Given the description of an element on the screen output the (x, y) to click on. 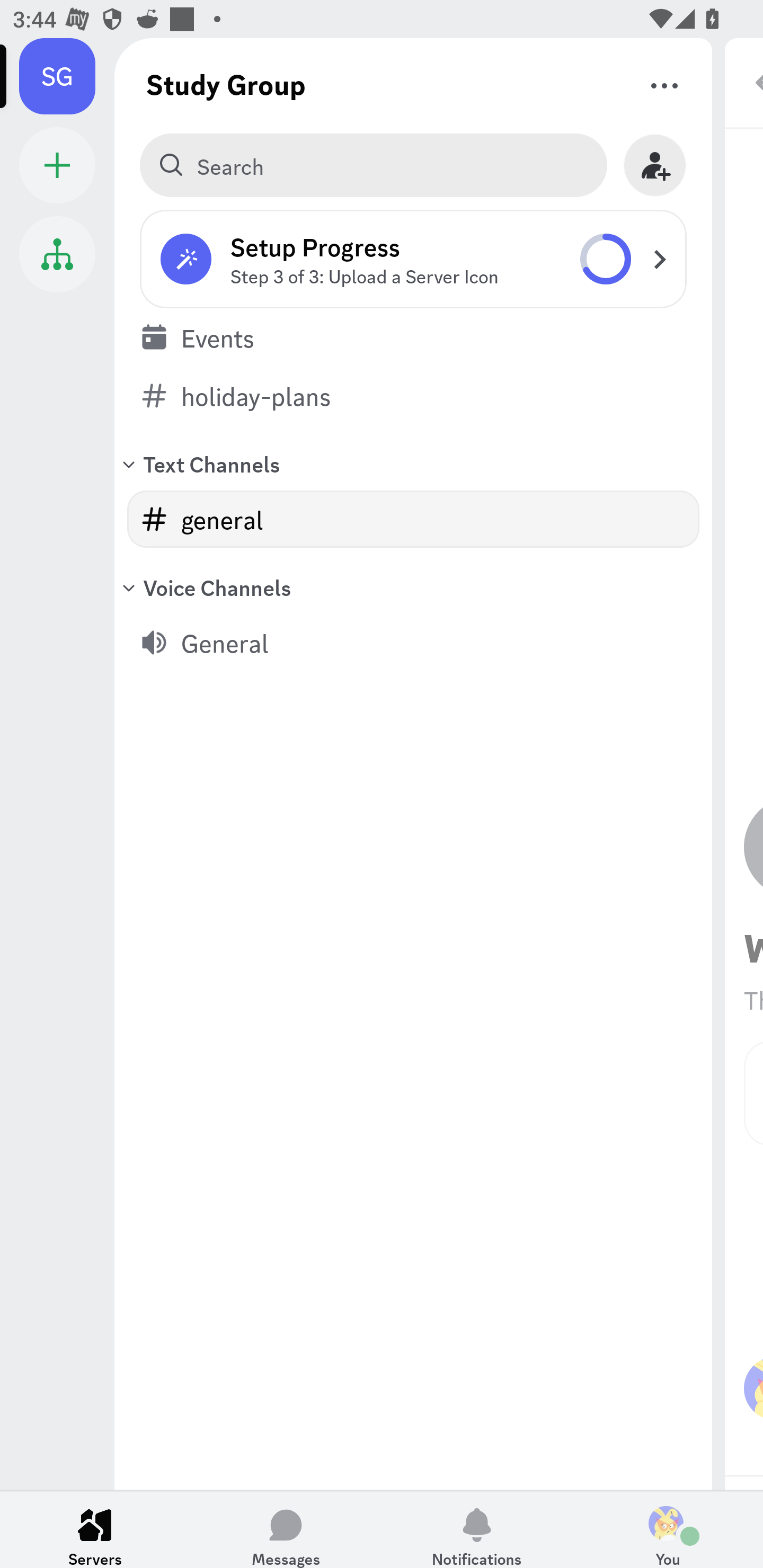
  Study Group SG (66, 75)
Study Group (226, 83)
Add a Server (57, 165)
Search (373, 165)
Invite (654, 165)
Student Hub (57, 253)
Events (413, 336)
holiday-plans (text channel) holiday-plans (413, 395)
Text Channels (412, 462)
general (text channel) general (413, 518)
Voice Channels (412, 586)
General (voice channel), 0 users General (413, 642)
Servers (95, 1529)
Messages (285, 1529)
Notifications (476, 1529)
You (667, 1529)
